Given the description of an element on the screen output the (x, y) to click on. 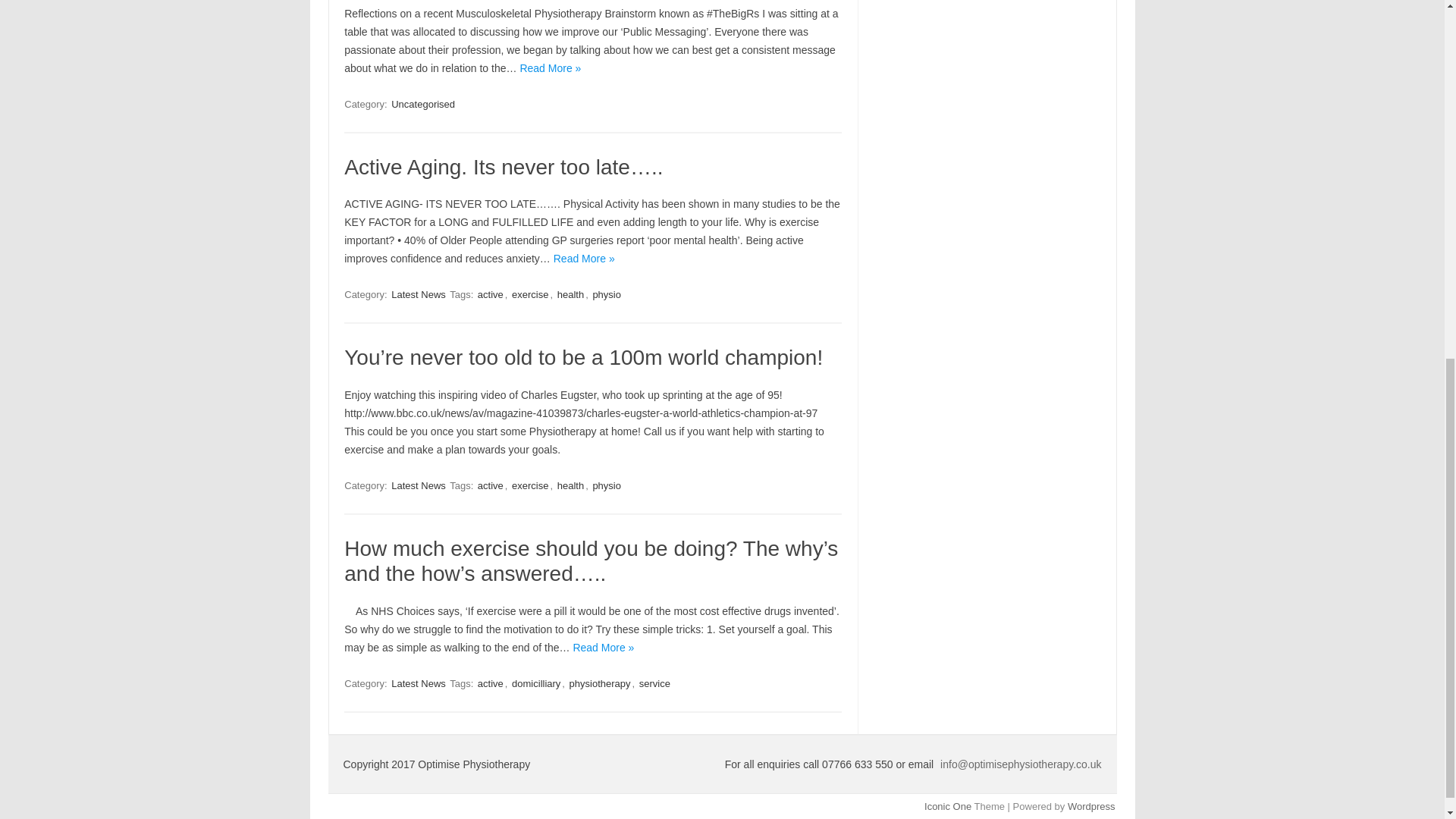
health (570, 485)
Latest News (418, 294)
active (490, 294)
physio (607, 485)
Uncategorised (423, 104)
domicilliary (536, 683)
service (654, 683)
health (570, 294)
physio (607, 294)
Latest News (418, 683)
exercise (530, 294)
active (490, 683)
Latest News (418, 485)
physiotherapy (599, 683)
exercise (530, 485)
